Given the description of an element on the screen output the (x, y) to click on. 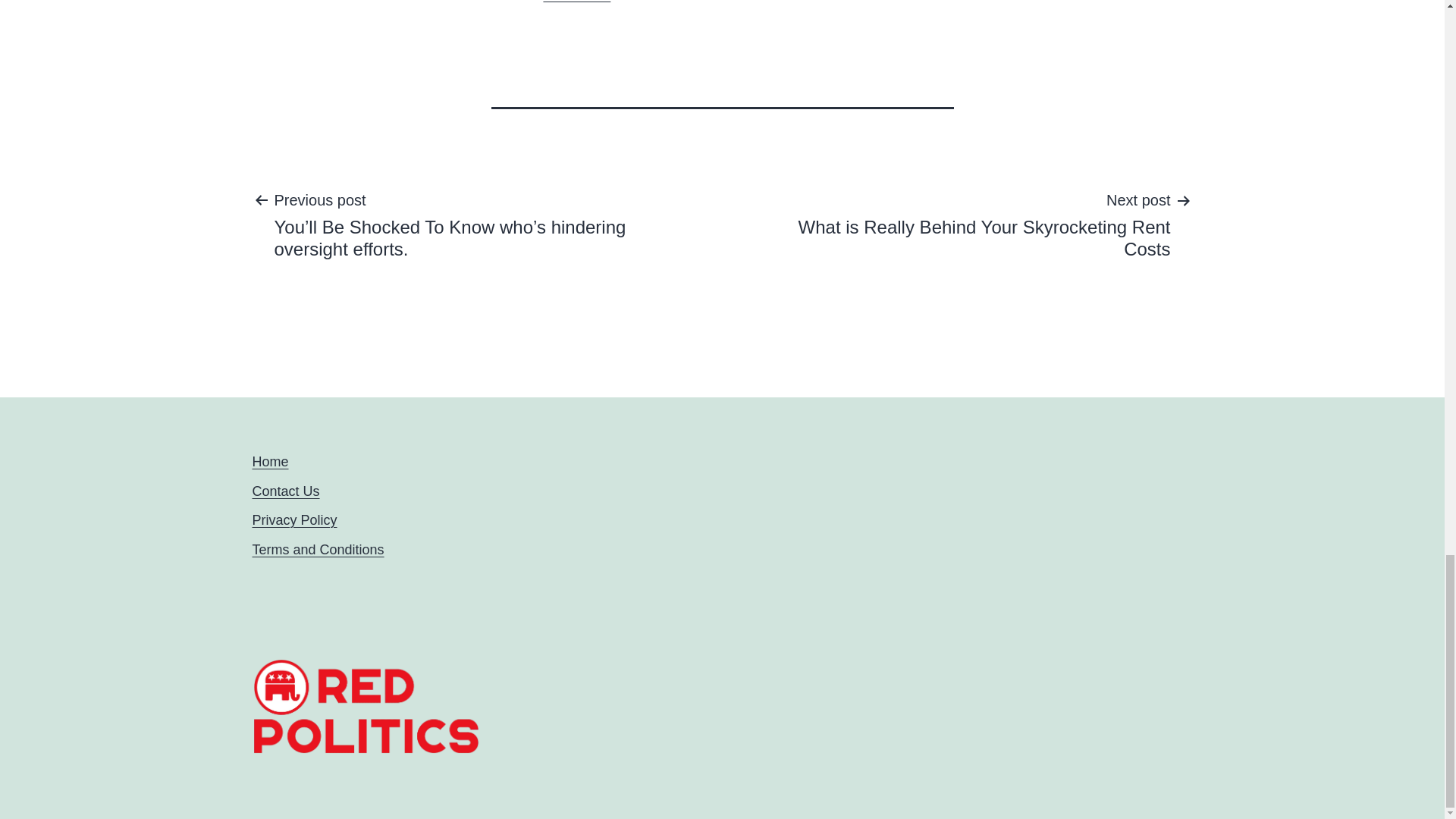
Terms and Conditions (317, 549)
Contact Us (960, 224)
Privacy Policy (284, 491)
Fox News (293, 519)
Home (576, 1)
